Given the description of an element on the screen output the (x, y) to click on. 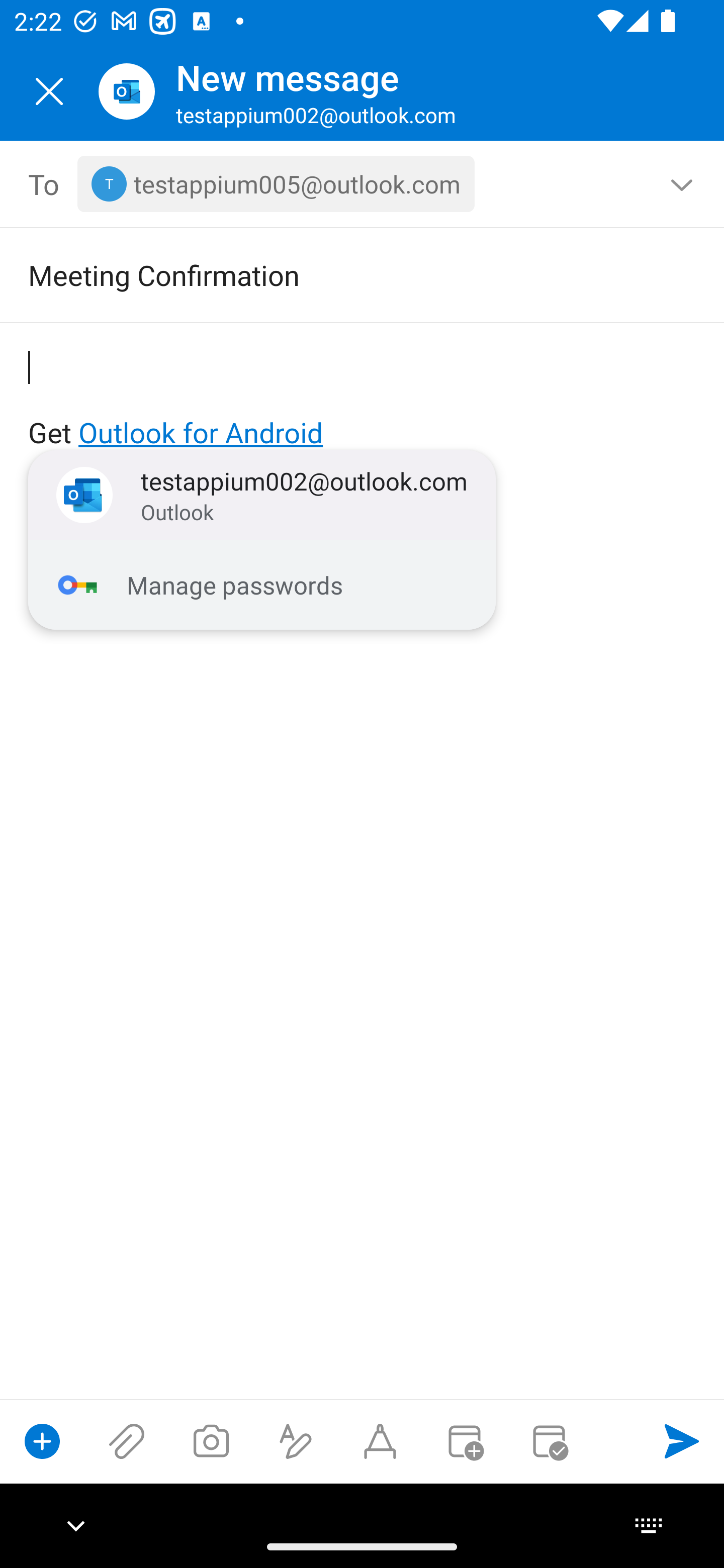
Outlook testappium002@outlook.com Outlook (261, 495)
Google Password Manager Manage passwords (261, 585)
